Given the description of an element on the screen output the (x, y) to click on. 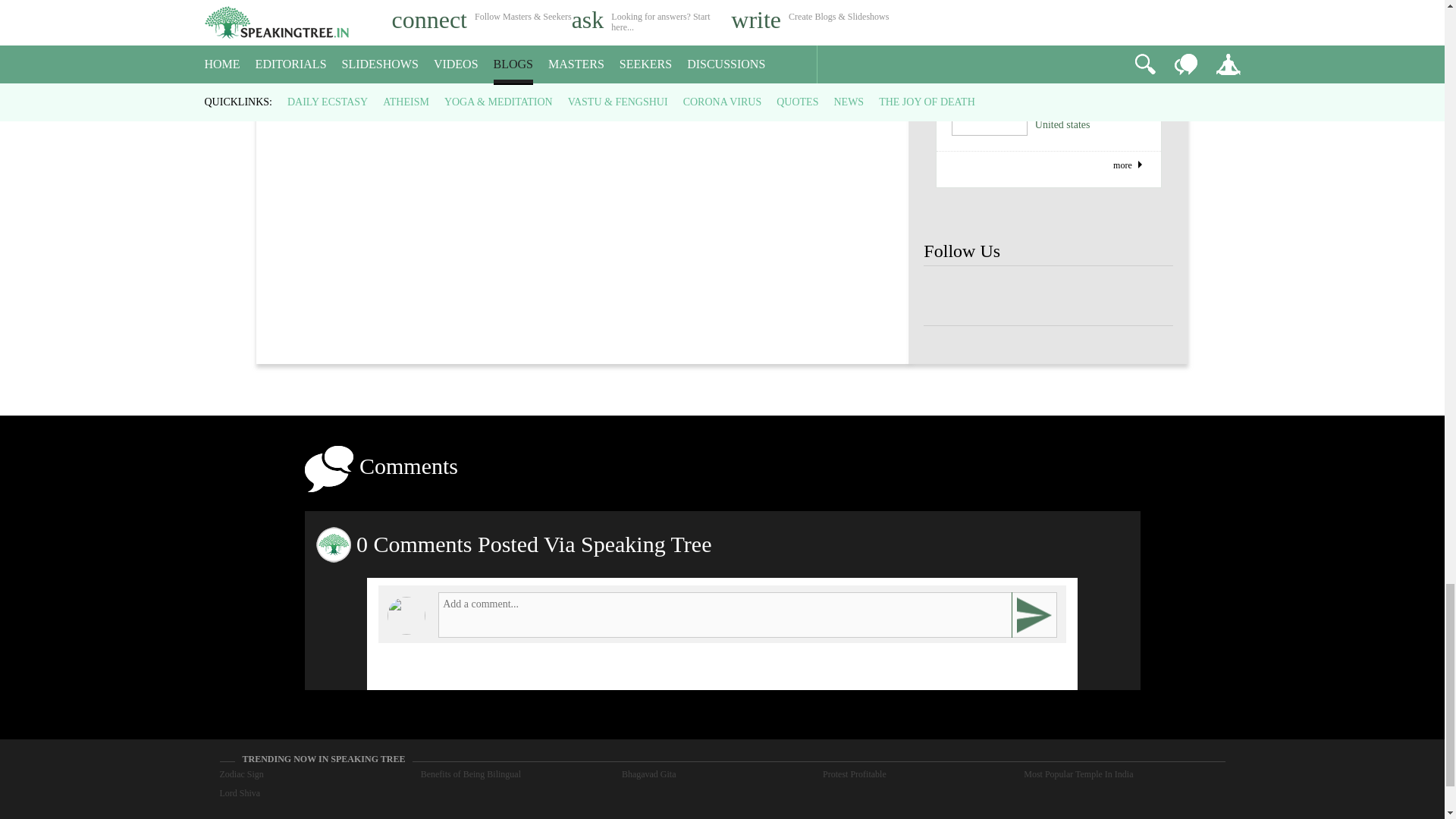
Speaking Tree FaceBook (1048, 296)
Speaking Tree FaceBook (948, 296)
Speaking Tree FaceBook (998, 296)
Speaking Tree FaceBook (1147, 296)
Speaking Tree FaceBook (1099, 296)
